Given the description of an element on the screen output the (x, y) to click on. 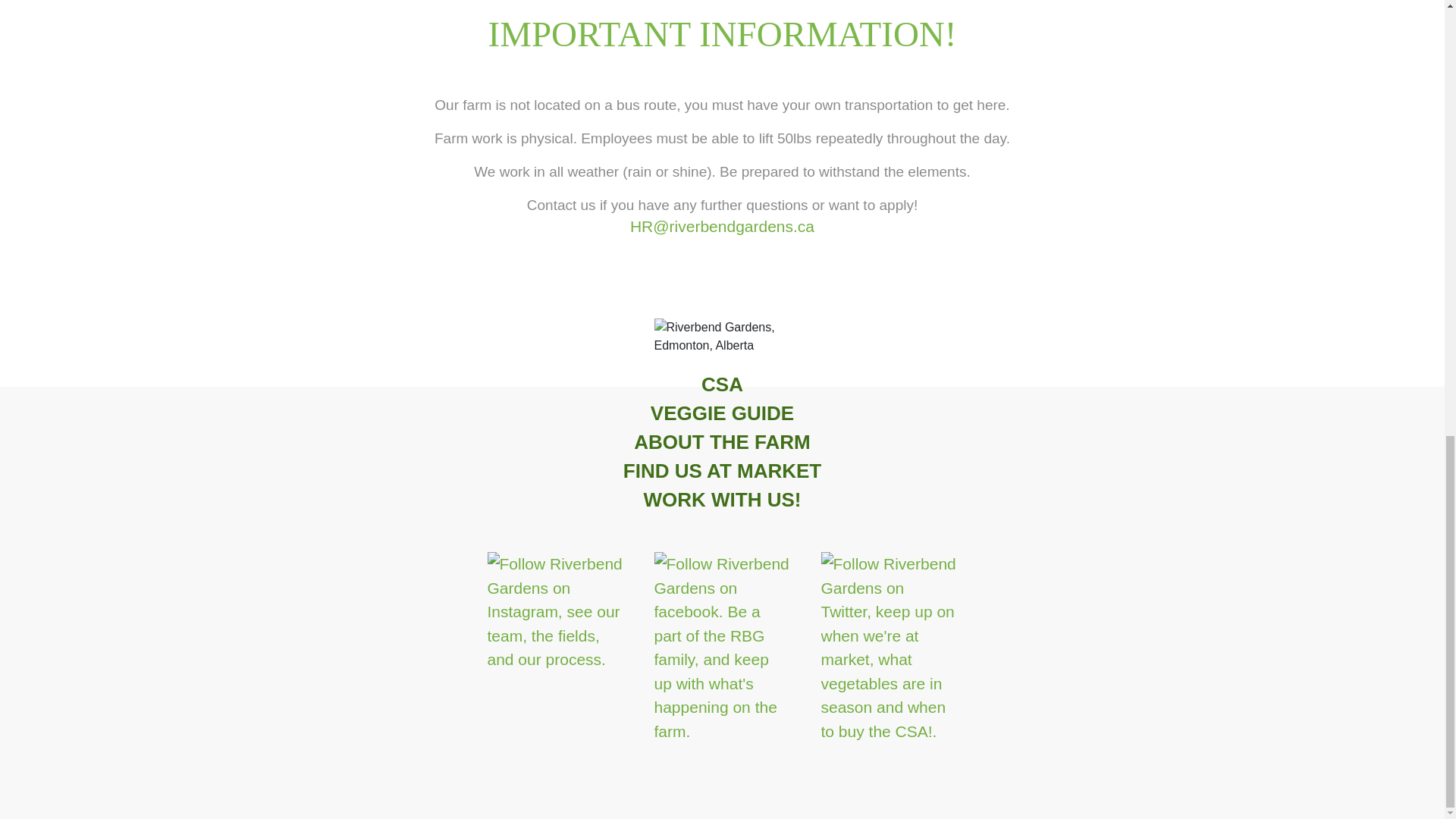
ABOUT THE FARM (722, 441)
WORK WITH US! (722, 499)
FIND US AT MARKET (722, 470)
VEGGIE GUIDE (722, 412)
CSA (722, 384)
